Given the description of an element on the screen output the (x, y) to click on. 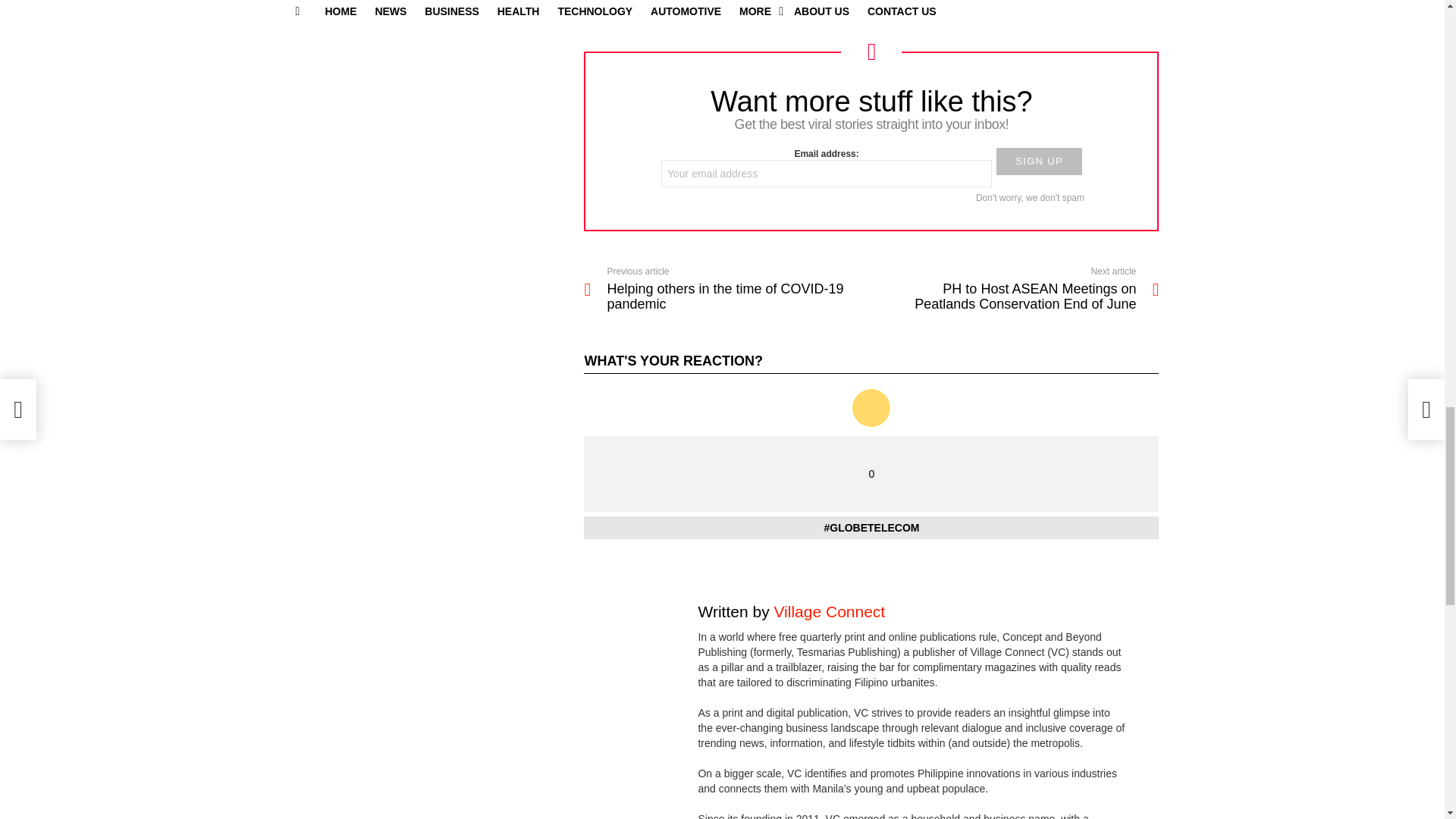
LINKEDIN (1058, 7)
Sign up (1038, 161)
Village Connect (829, 610)
Share on LinkedIn (1058, 7)
FACEBOOK (677, 7)
TWITTER (871, 7)
Sign up (1038, 161)
Share on Twitter (871, 7)
